Given the description of an element on the screen output the (x, y) to click on. 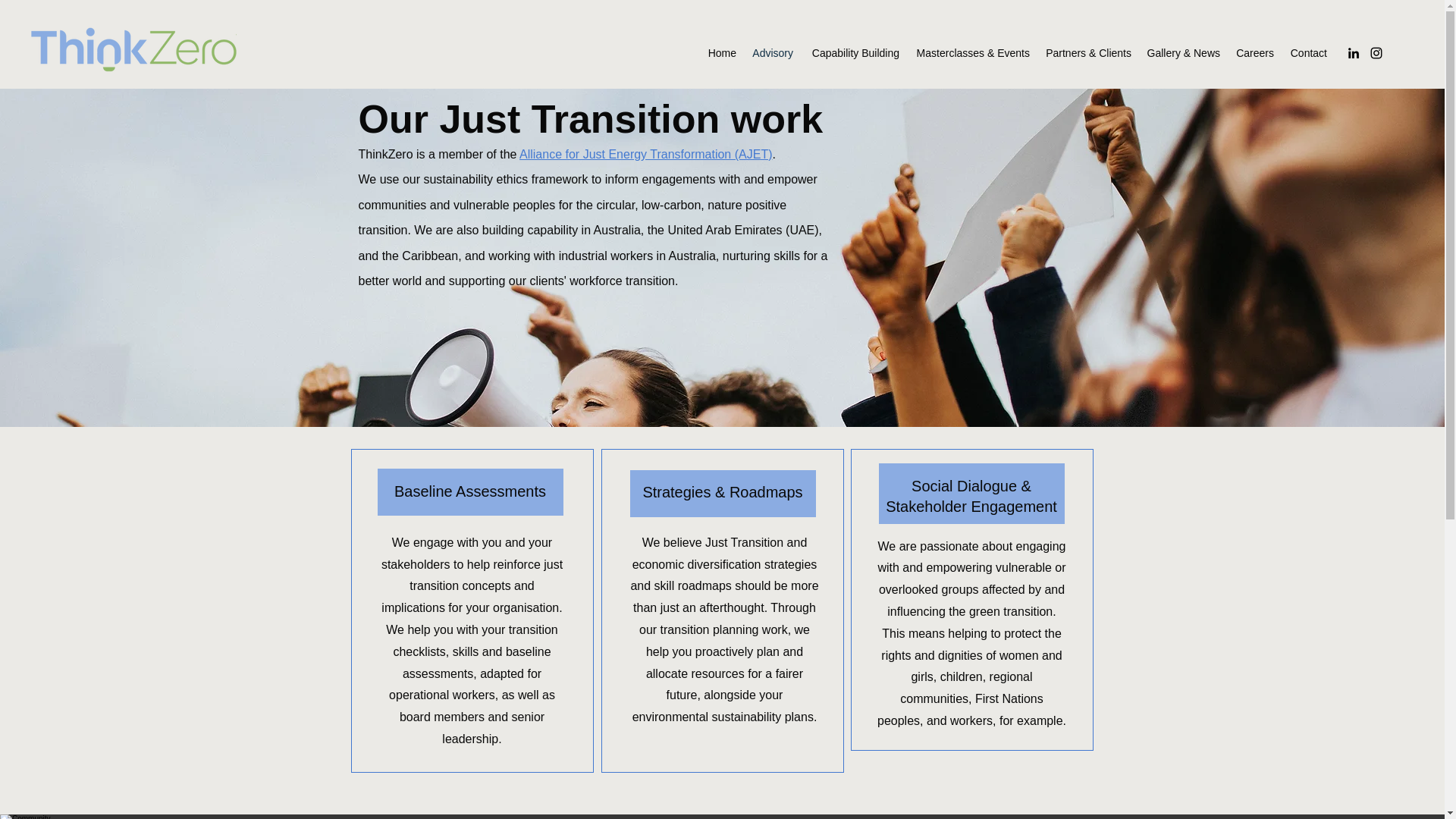
Careers (1254, 52)
Contact (1308, 52)
Home (722, 52)
Capability Building (853, 52)
Advisory (772, 52)
